Given the description of an element on the screen output the (x, y) to click on. 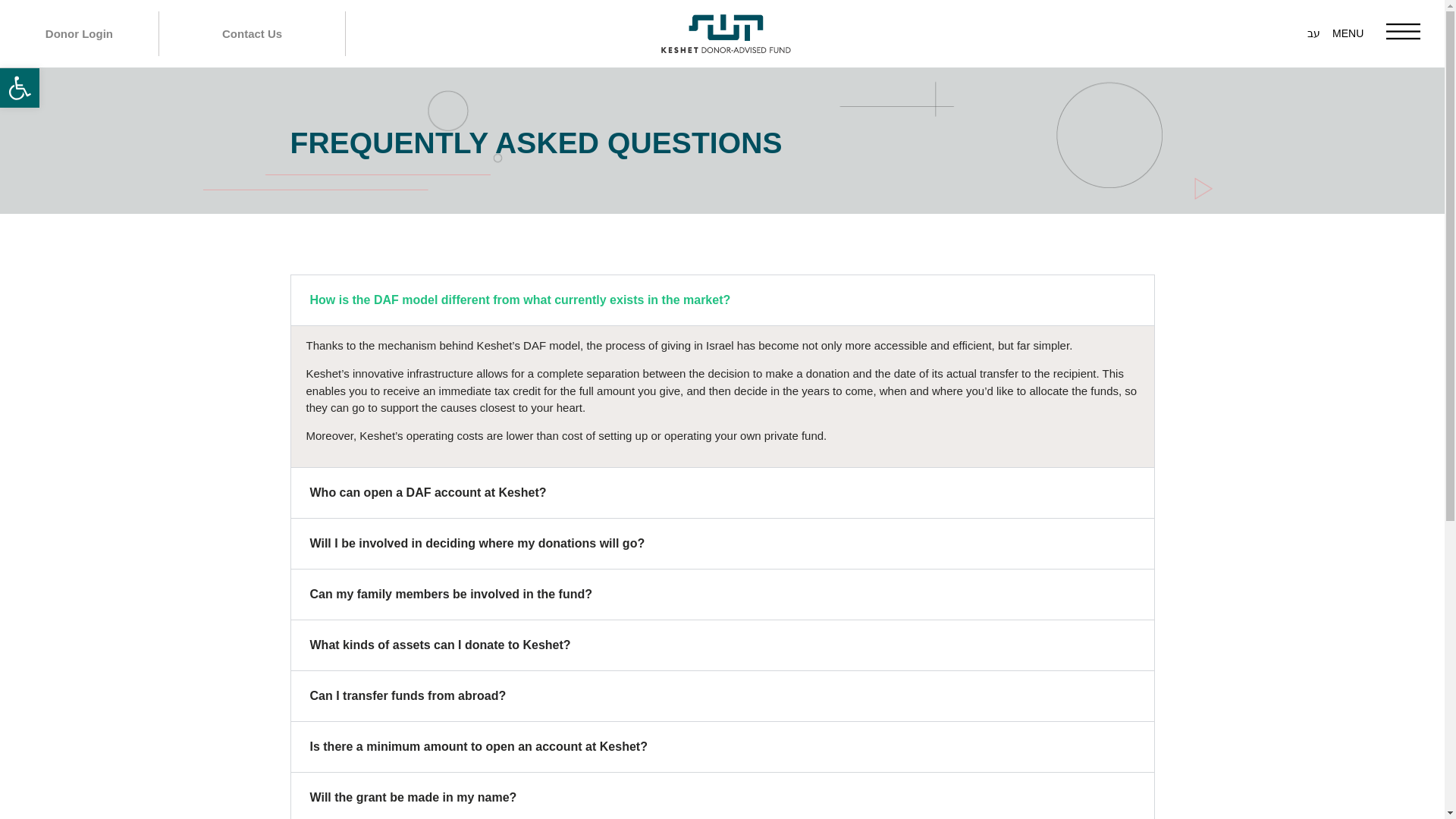
Will I be involved in deciding where my donations will go? (476, 543)
Can my family members be involved in the fund? (450, 594)
Contact Us (251, 33)
What kinds of assets can I donate to Keshet? (439, 644)
Donor Login (79, 33)
Who can open a DAF account at Keshet? (427, 492)
Can I transfer funds from abroad? (406, 695)
